Given the description of an element on the screen output the (x, y) to click on. 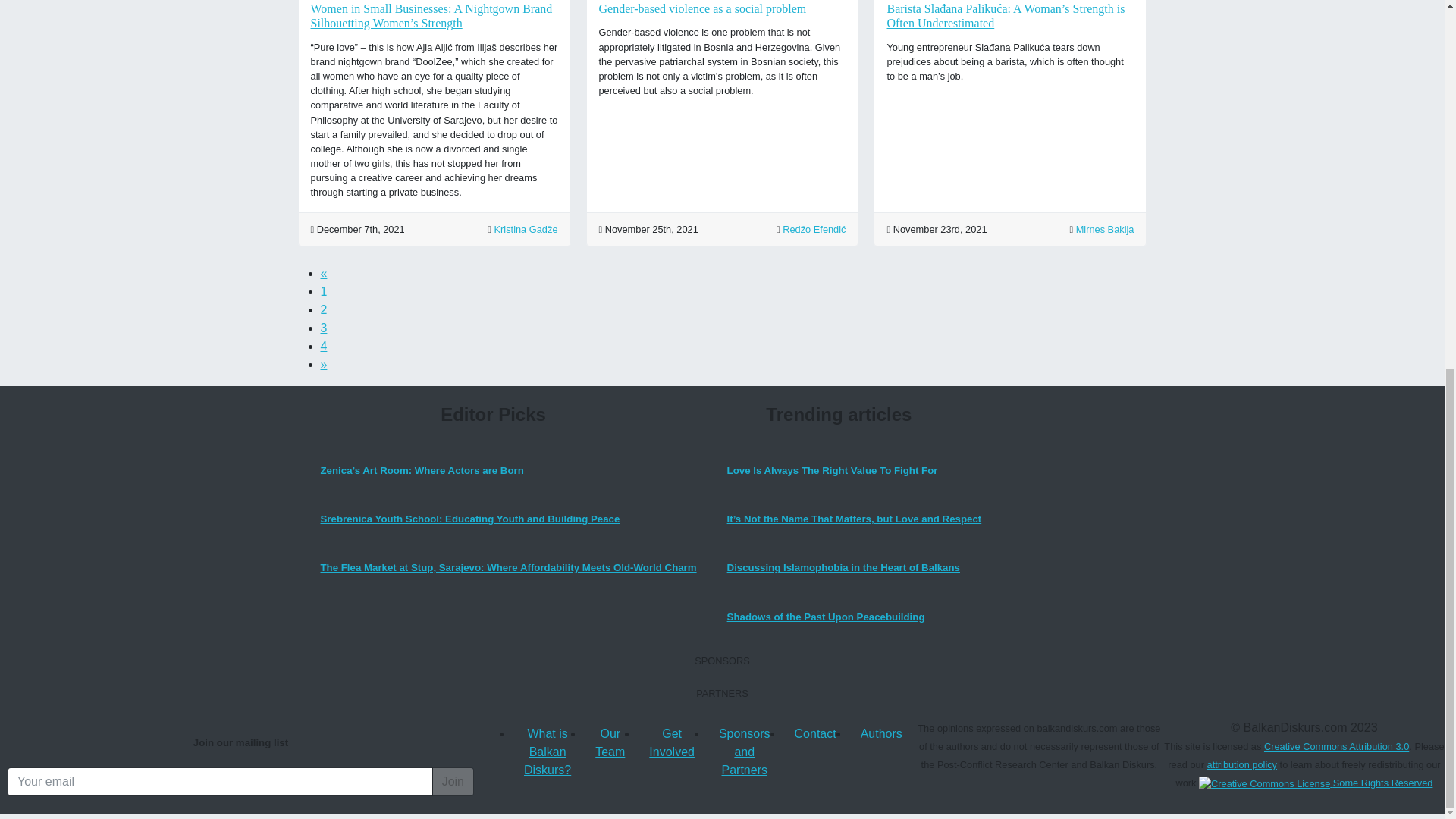
Creative Commons Attribution 3.0 (1315, 782)
